Given the description of an element on the screen output the (x, y) to click on. 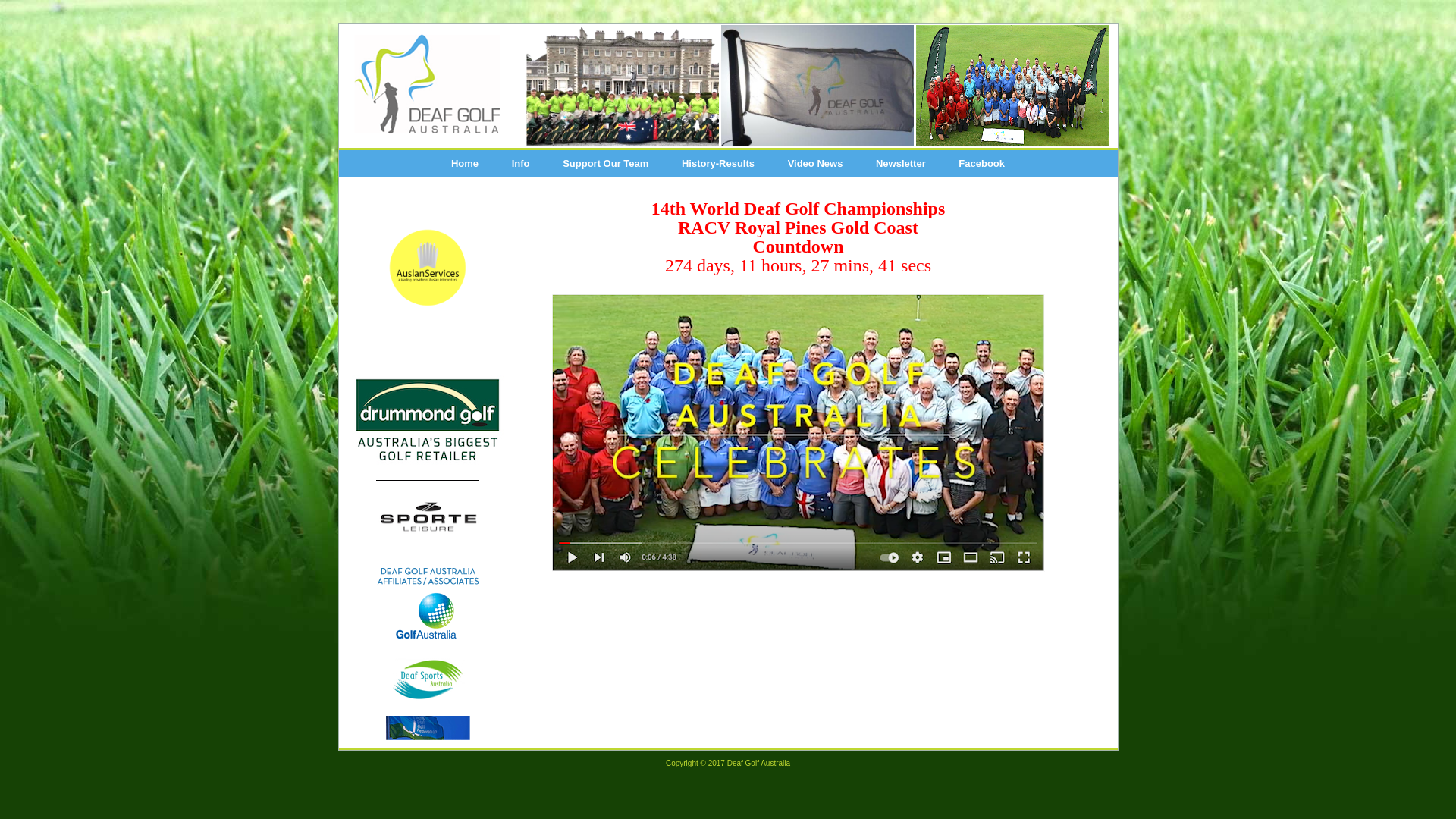
History-Results Element type: text (717, 163)
Facebook Element type: text (981, 163)
Support Our Team Element type: text (605, 163)
Newsletter Element type: text (900, 163)
Info Element type: text (520, 163)
Video News Element type: text (815, 163)
Home Element type: text (464, 163)
